Given the description of an element on the screen output the (x, y) to click on. 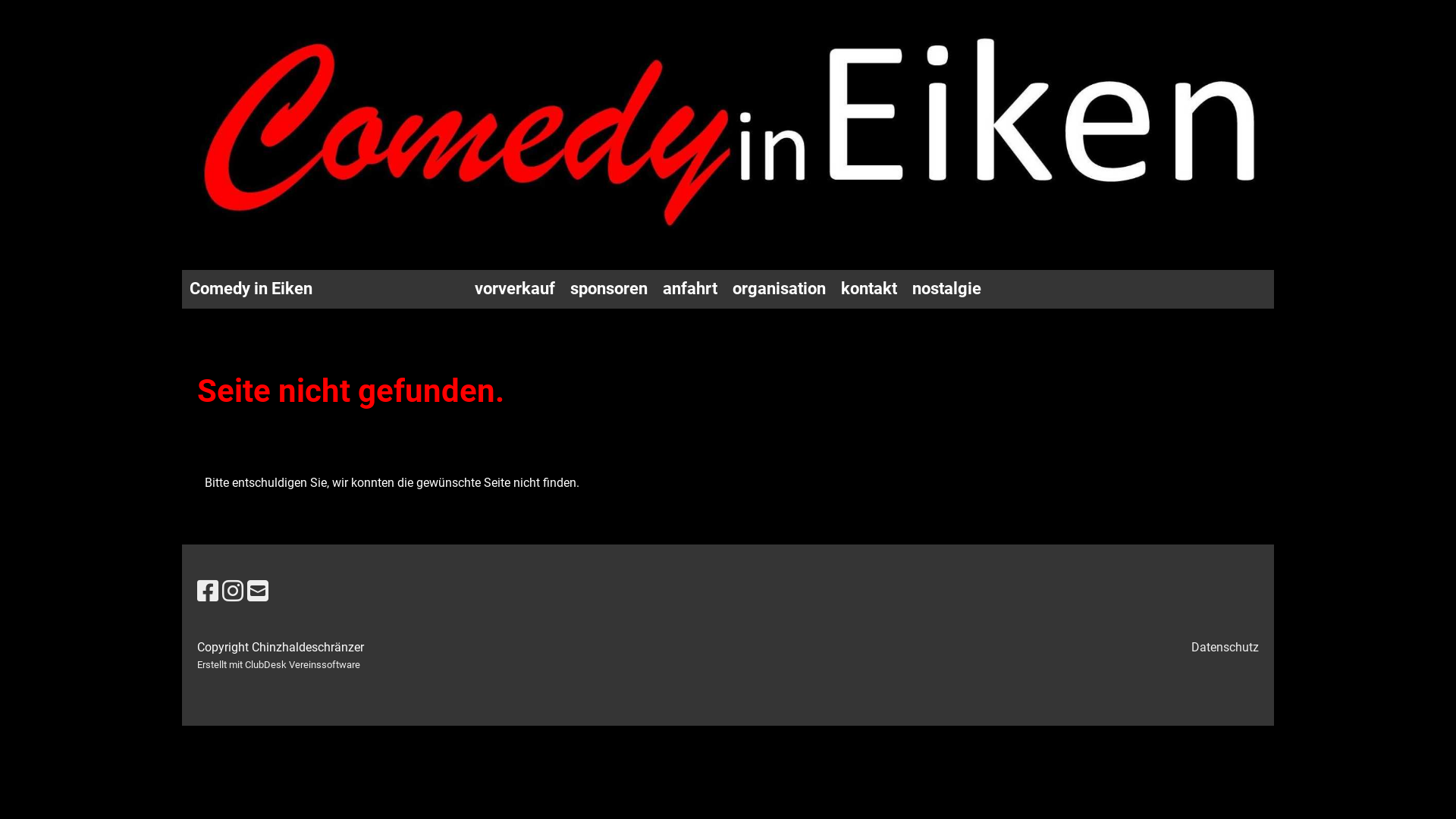
kontakt Element type: text (868, 288)
organisation Element type: text (778, 288)
Erstellt mit ClubDesk Vereinssoftware Element type: text (278, 664)
anfahrt Element type: text (689, 288)
nostalgie Element type: text (946, 288)
Comedy in Eiken Element type: text (251, 289)
sponsoren Element type: text (608, 288)
vorverkauf Element type: text (514, 288)
Datenschutz Element type: text (1224, 647)
